Given the description of an element on the screen output the (x, y) to click on. 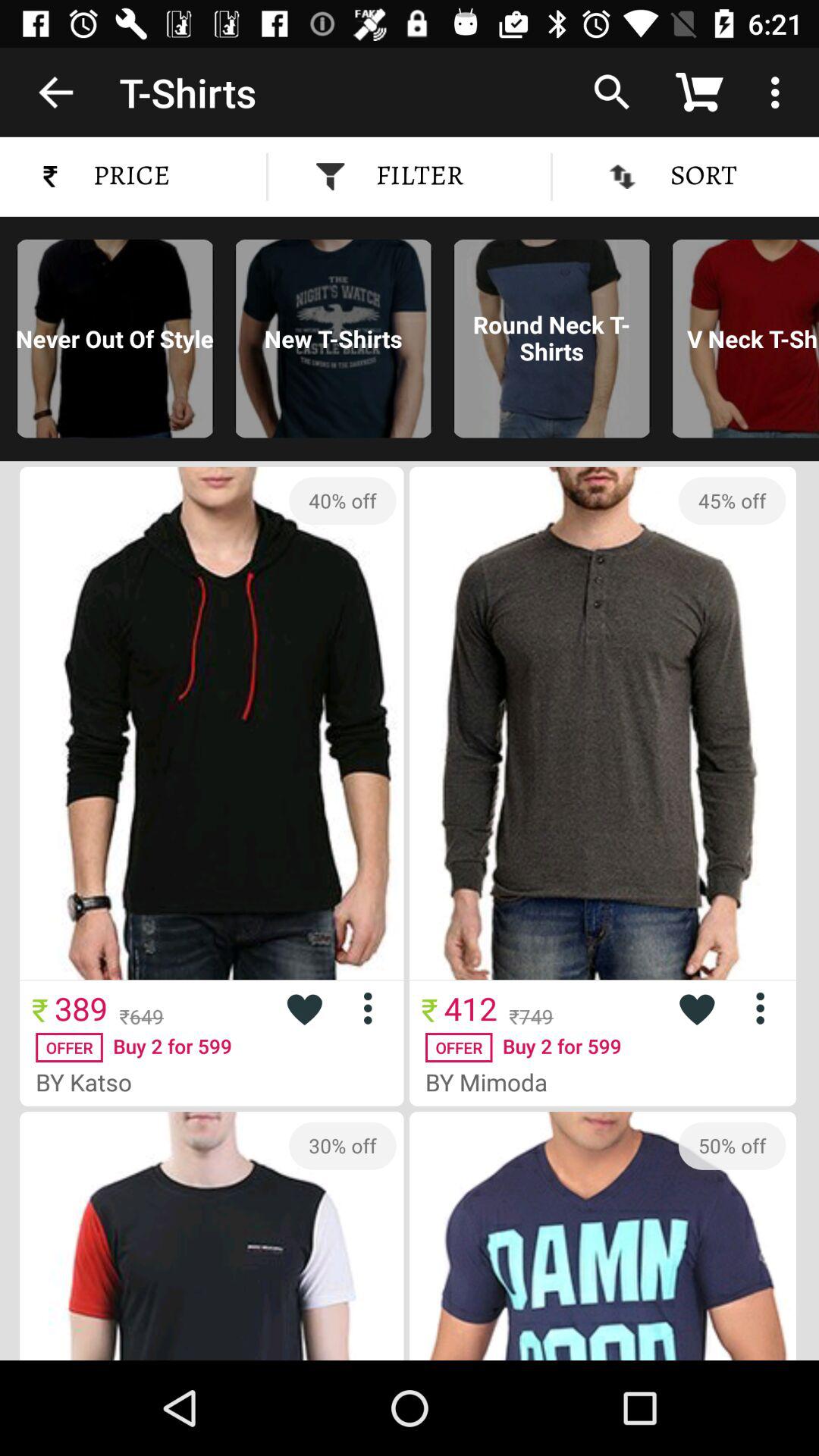
like product (696, 1008)
